Given the description of an element on the screen output the (x, y) to click on. 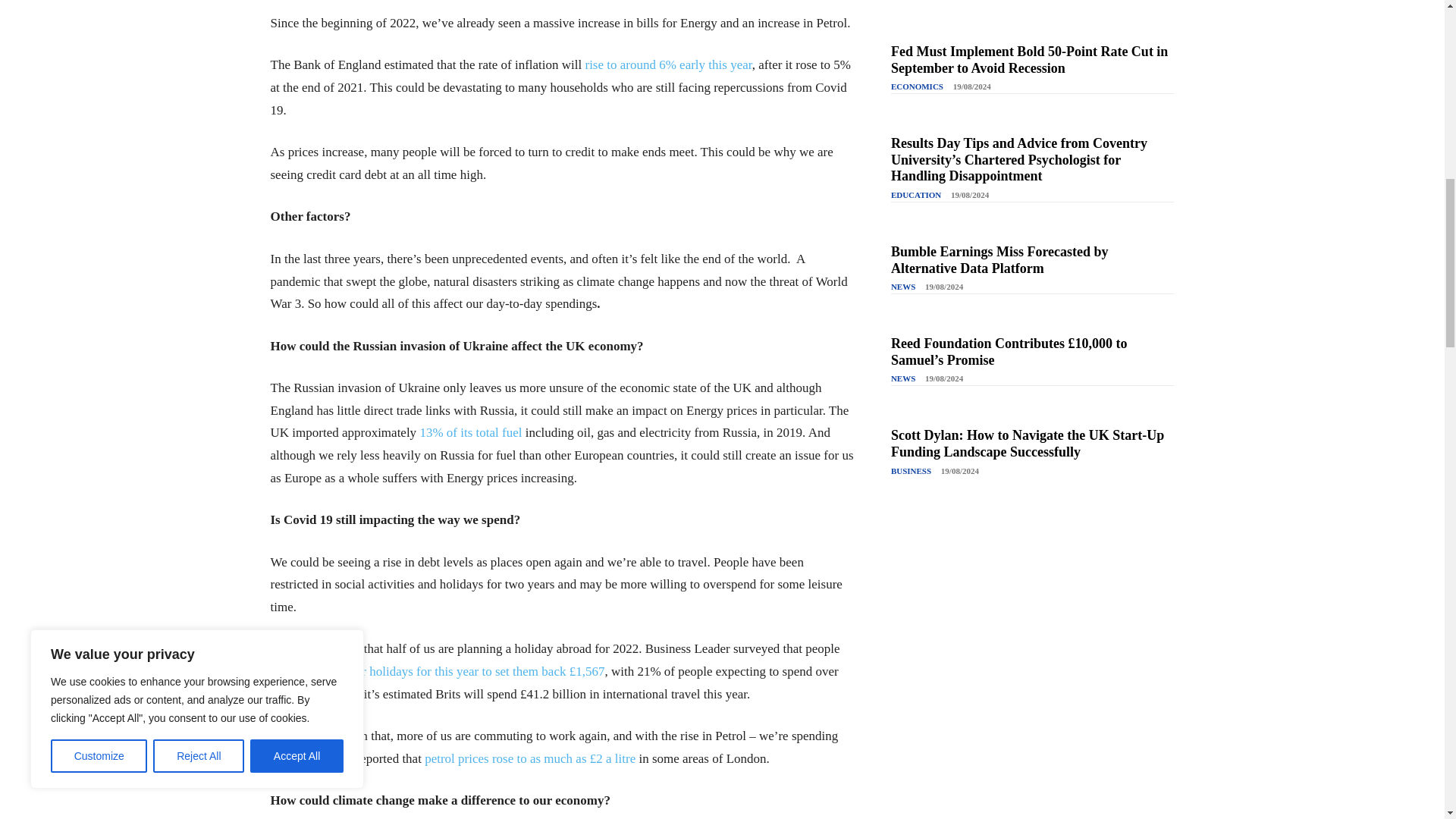
Bumble Earnings Miss Forecasted by Alternative Data Platform (999, 260)
